Given the description of an element on the screen output the (x, y) to click on. 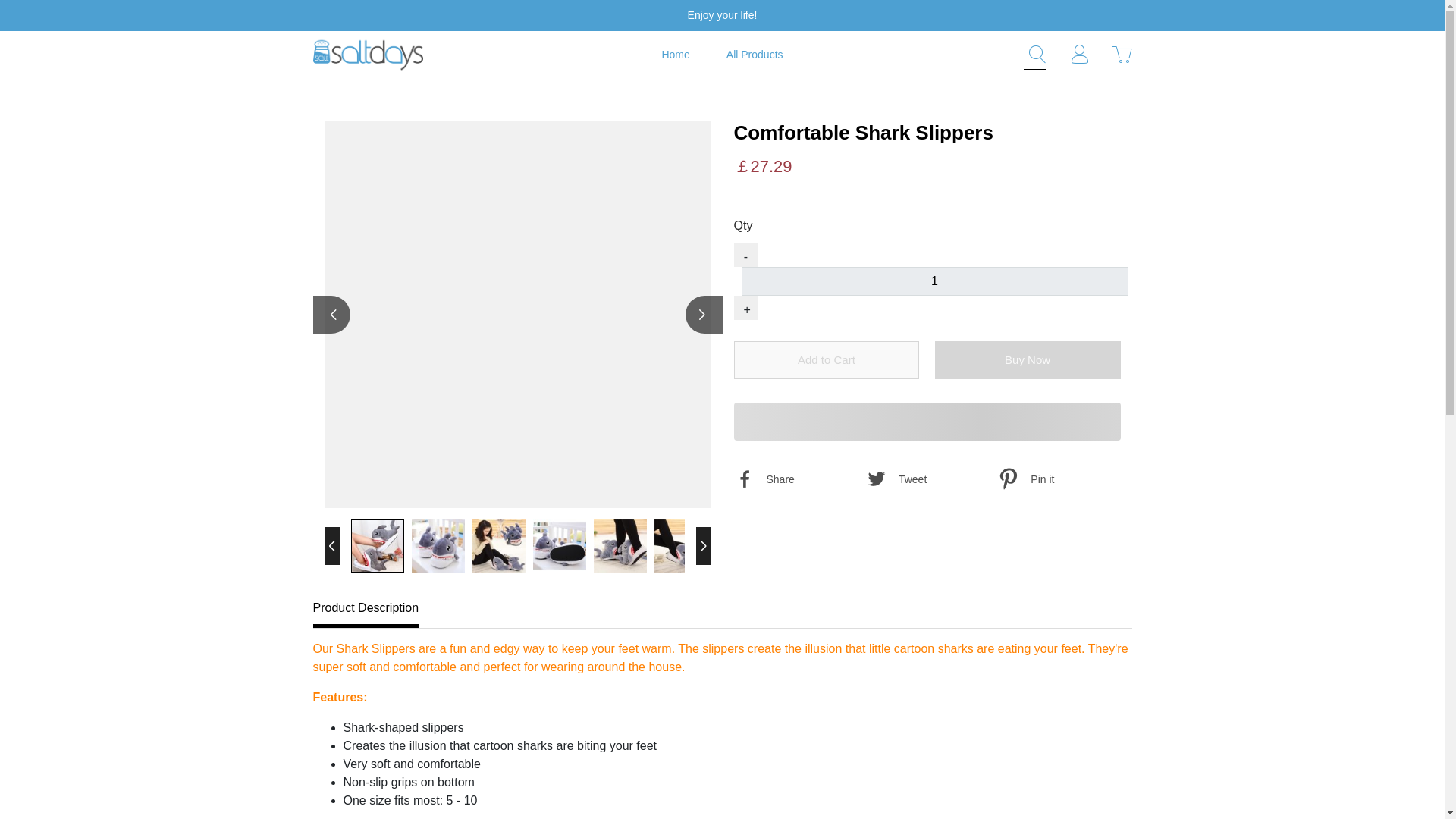
1 (934, 280)
Home (674, 54)
All Products (754, 54)
